Given the description of an element on the screen output the (x, y) to click on. 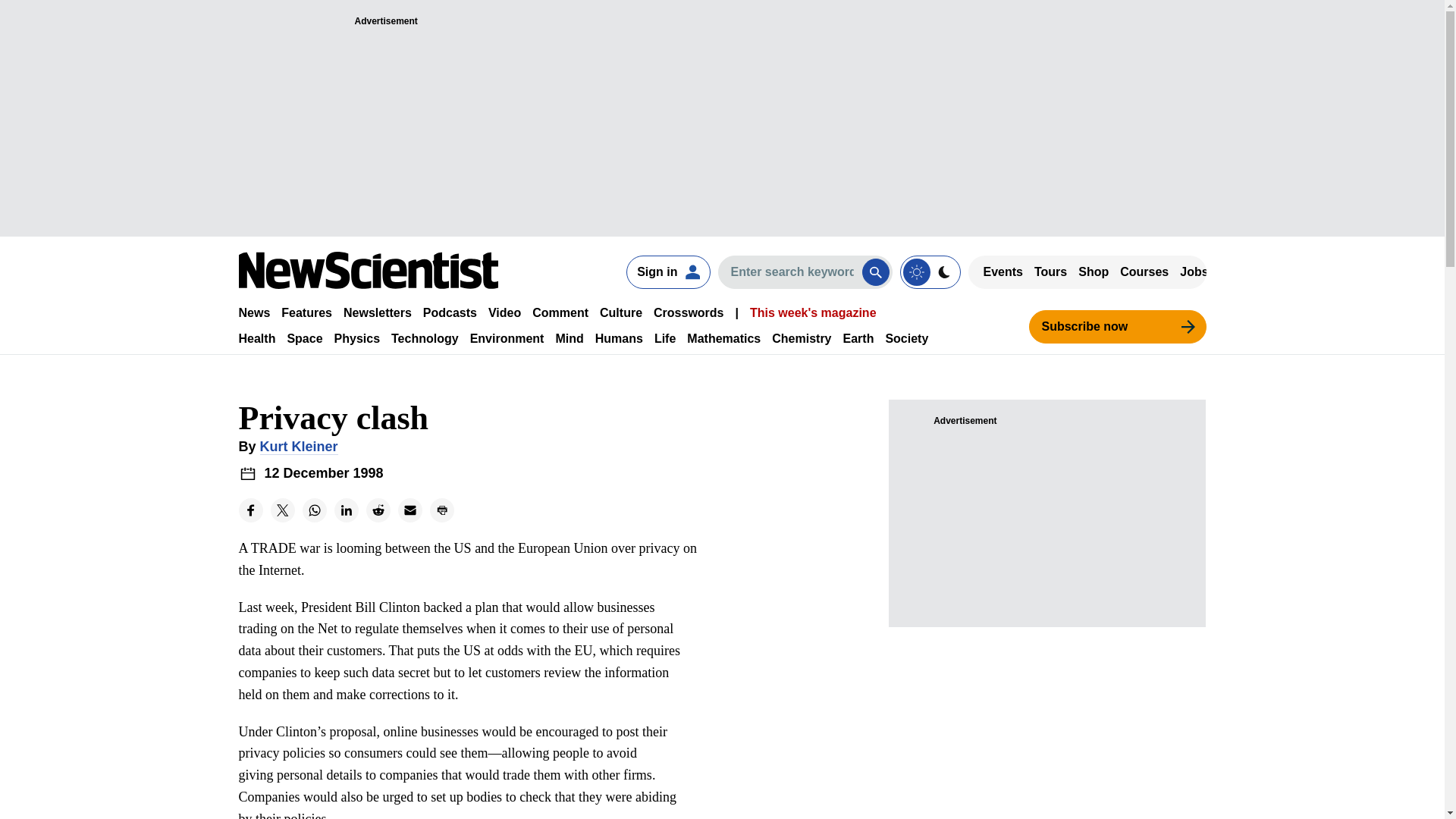
Calendar icon (247, 473)
Technology (424, 338)
Mind (568, 338)
Video (504, 313)
Physics (357, 338)
Life (664, 338)
Newsletters (377, 313)
Sign In page link (668, 272)
Earth (859, 338)
on (929, 272)
